Given the description of an element on the screen output the (x, y) to click on. 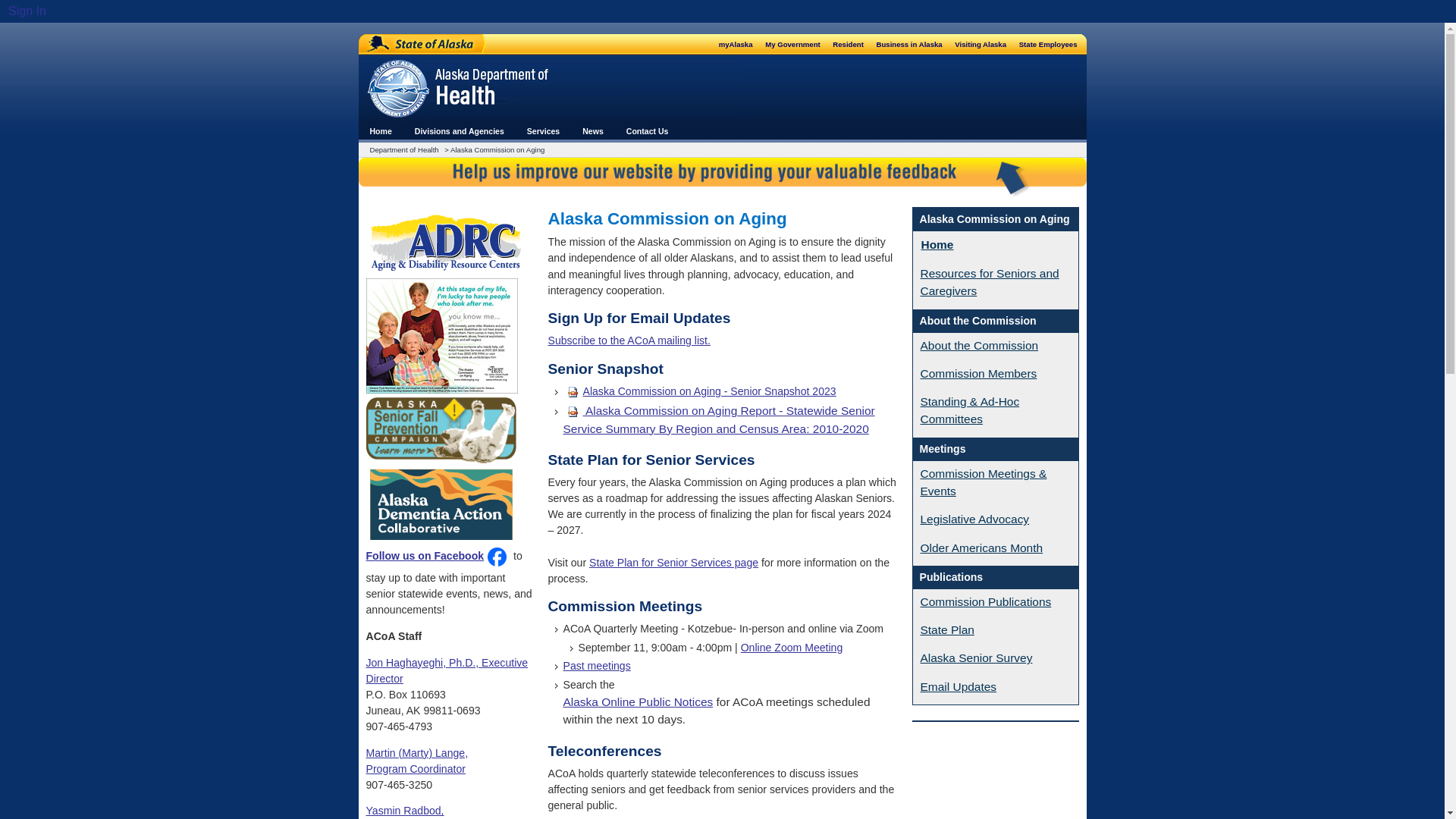
Sign In (25, 11)
State Employees (1048, 44)
My Government (793, 44)
Resident (848, 44)
Home (380, 130)
Services (542, 130)
Divisions and Agencies (459, 130)
Department of Health  (405, 149)
Visiting Alaska (981, 44)
State of Alaska (422, 44)
